Given the description of an element on the screen output the (x, y) to click on. 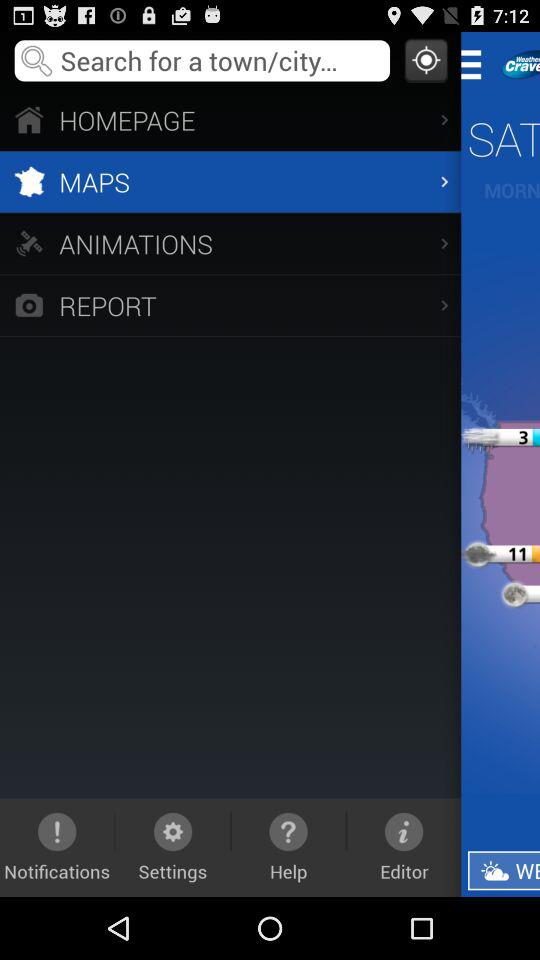
flip until homepage icon (230, 119)
